Given the description of an element on the screen output the (x, y) to click on. 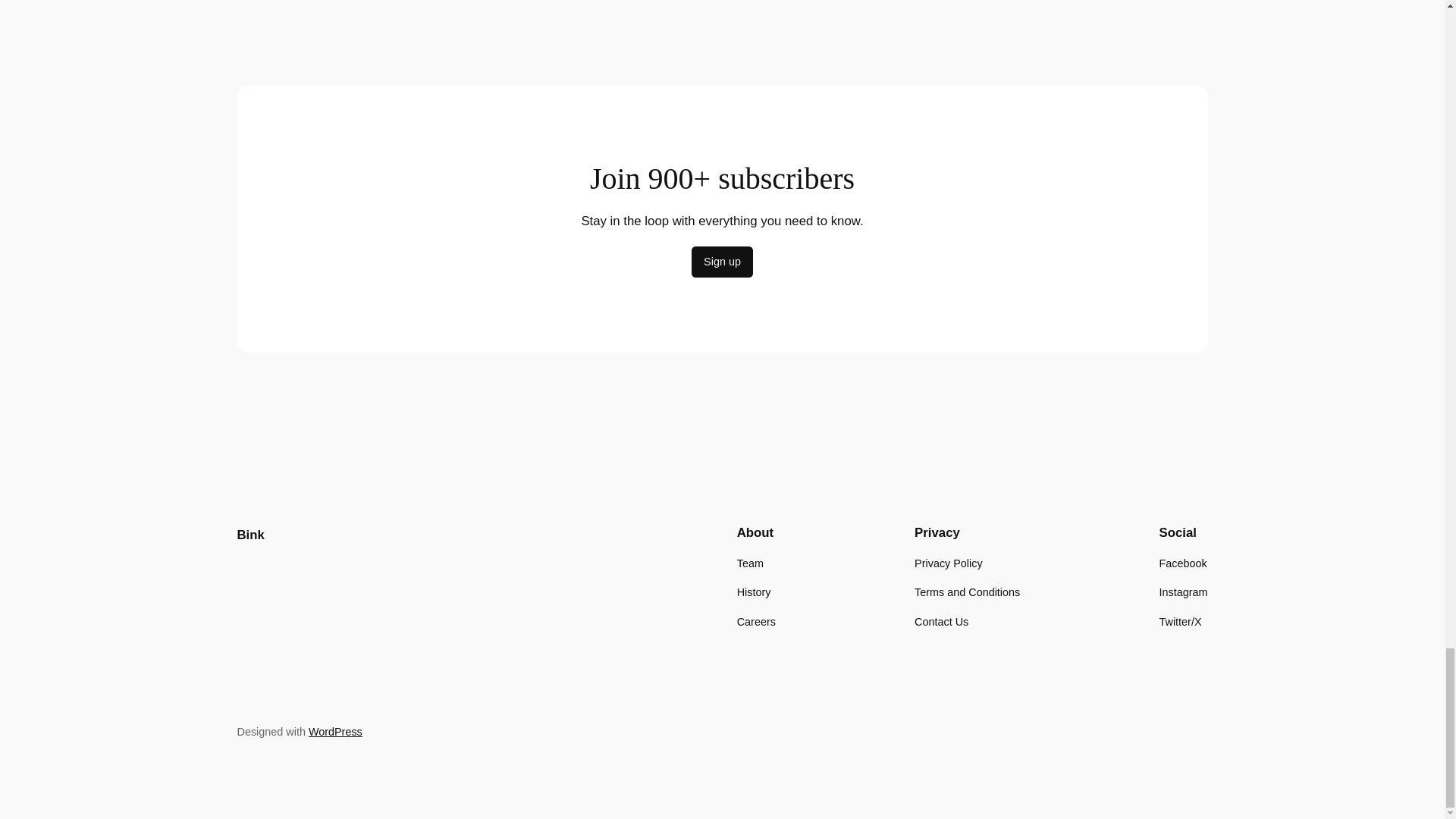
Sign up (721, 262)
Careers (756, 620)
WordPress (335, 731)
Terms and Conditions (967, 591)
Contact Us (941, 620)
Privacy Policy (948, 563)
History (753, 591)
Team (749, 563)
Instagram (1182, 591)
Bink (249, 534)
Facebook (1182, 563)
